Given the description of an element on the screen output the (x, y) to click on. 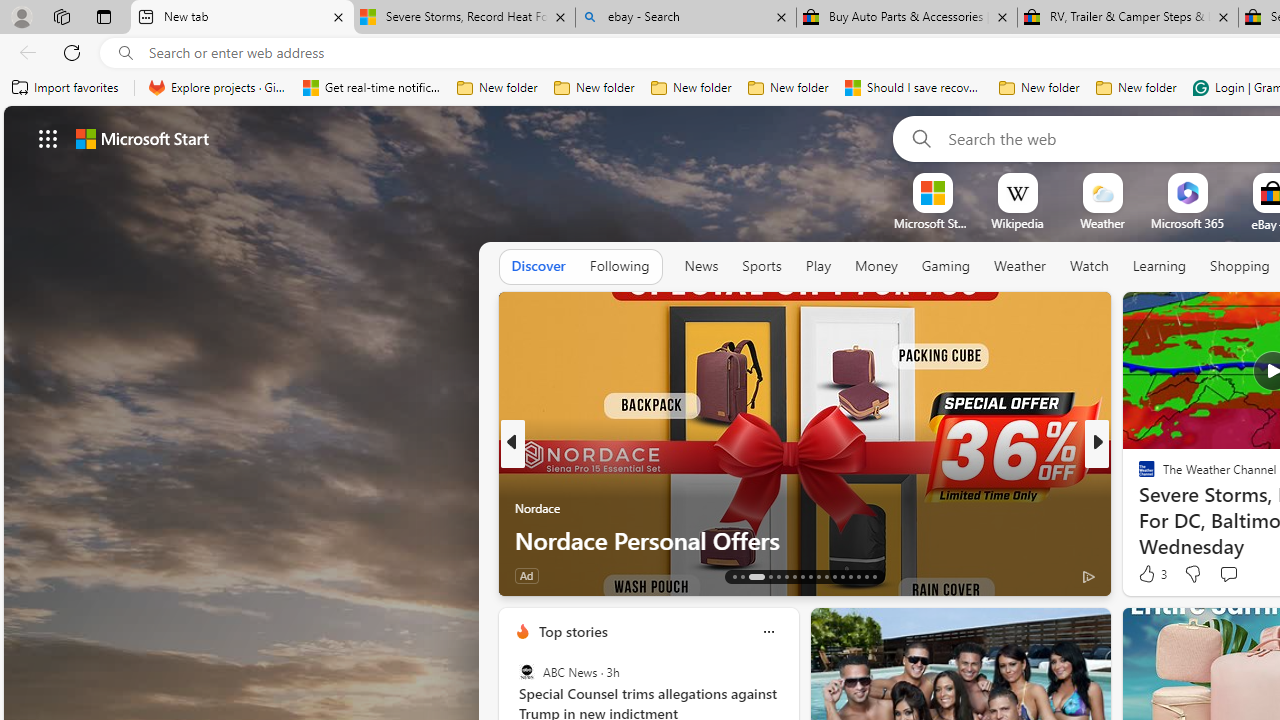
AutomationID: tab-15 (756, 576)
AutomationID: tab-24 (833, 576)
Microsoft start (142, 138)
AutomationID: tab-19 (793, 576)
Simply More Time (1138, 507)
View comments 8 Comment (1229, 575)
AutomationID: tab-25 (842, 576)
Import favorites (65, 88)
32 Like (1149, 574)
102 Like (1151, 574)
Forge of Empires (1175, 507)
View comments 8 Comment (1234, 574)
Body Network (1138, 475)
